Given the description of an element on the screen output the (x, y) to click on. 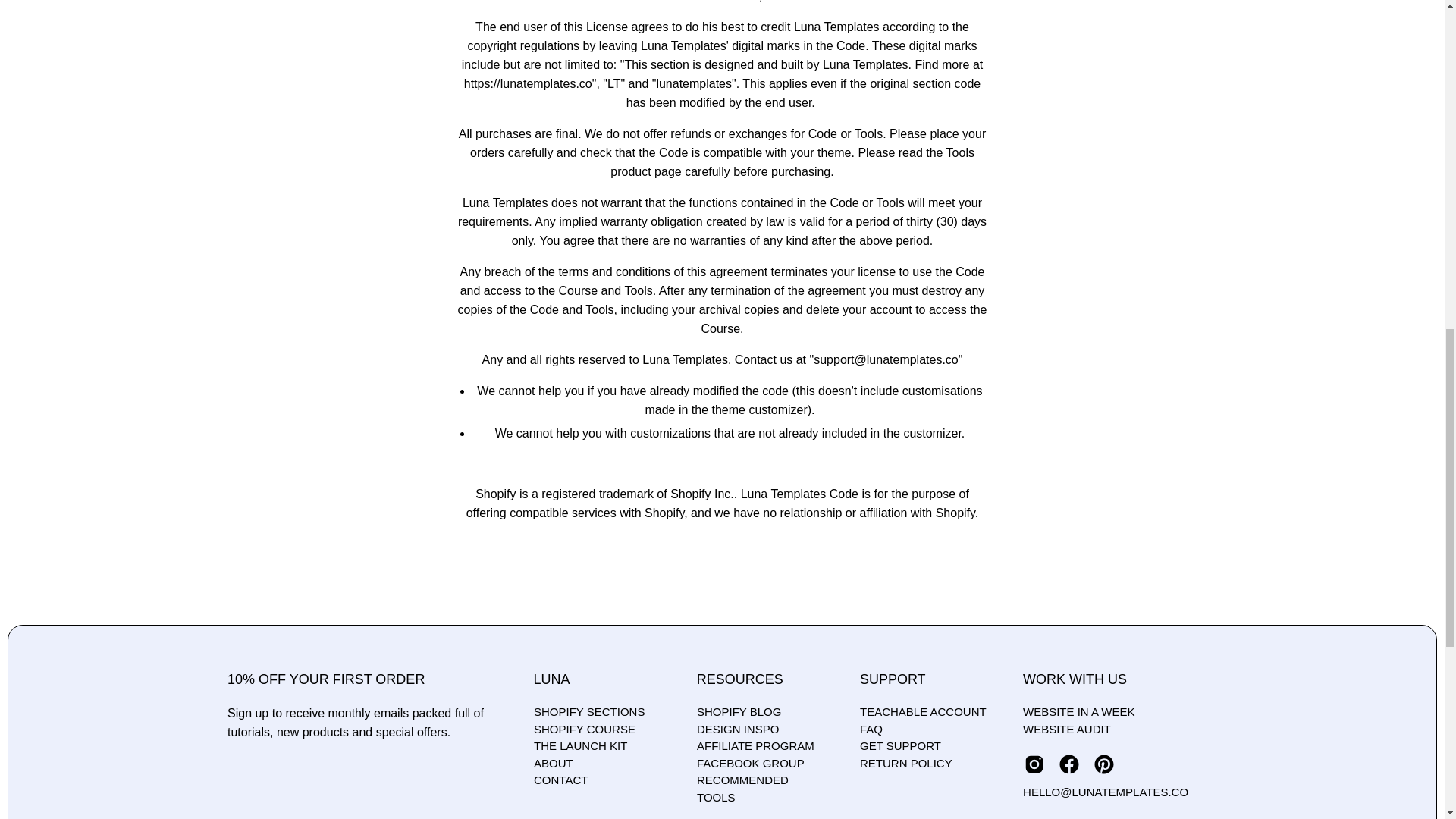
View Luna Templates on Instagram (1034, 763)
View Luna Templates on Facebook (1069, 763)
View Luna Templates on Pinterest (1104, 763)
